Given the description of an element on the screen output the (x, y) to click on. 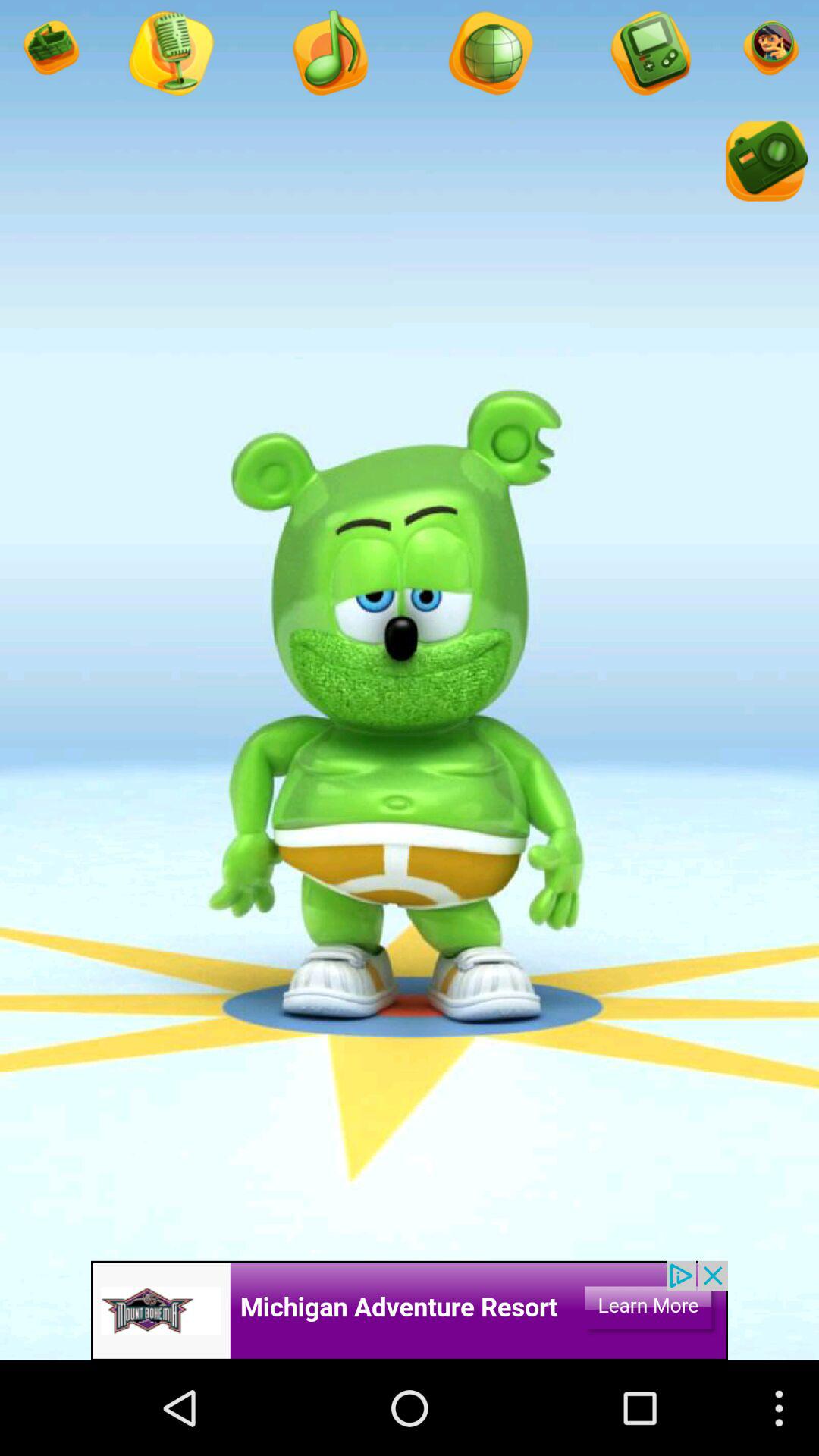
go to music (329, 55)
